Given the description of an element on the screen output the (x, y) to click on. 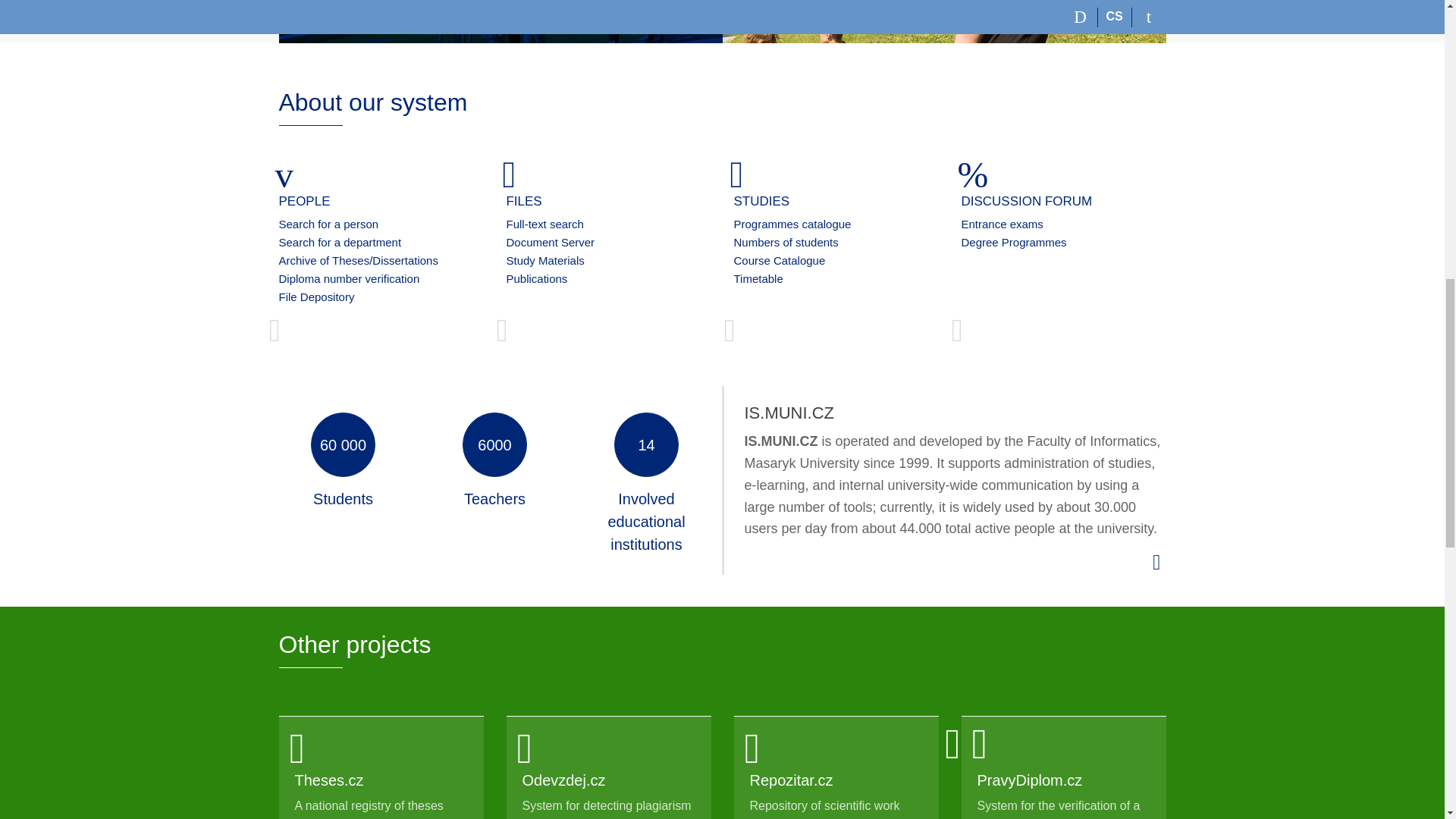
Full-text search (544, 223)
Document Server (550, 241)
File Depository (317, 296)
Search for a department (340, 241)
Study Materials (545, 259)
Search for a person (328, 223)
Diploma number verification (349, 278)
View more system details (1156, 561)
Discussion forum (566, 1)
